Given the description of an element on the screen output the (x, y) to click on. 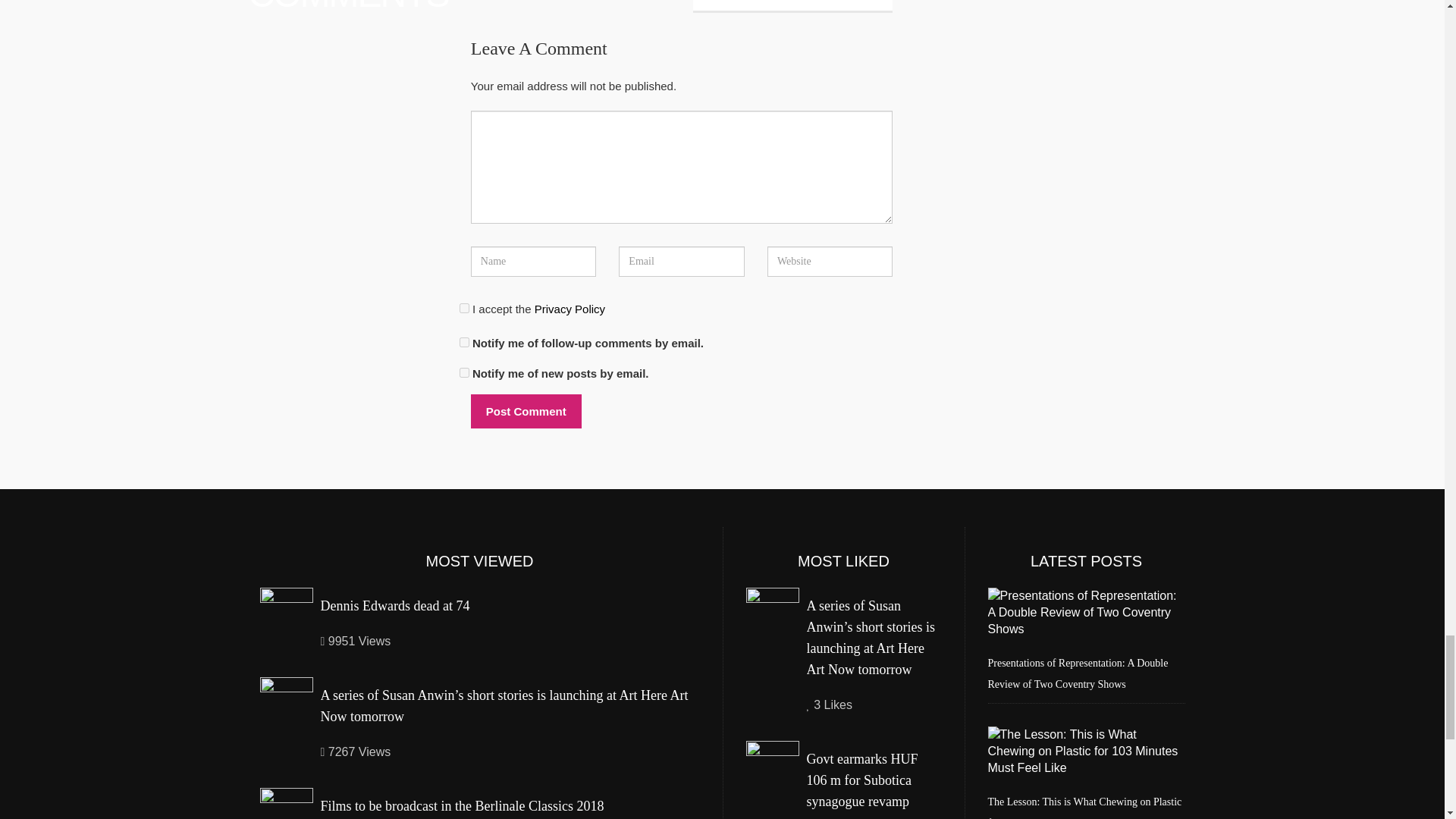
Post Comment (525, 410)
subscribe (464, 372)
1 (464, 307)
subscribe (464, 342)
